Given the description of an element on the screen output the (x, y) to click on. 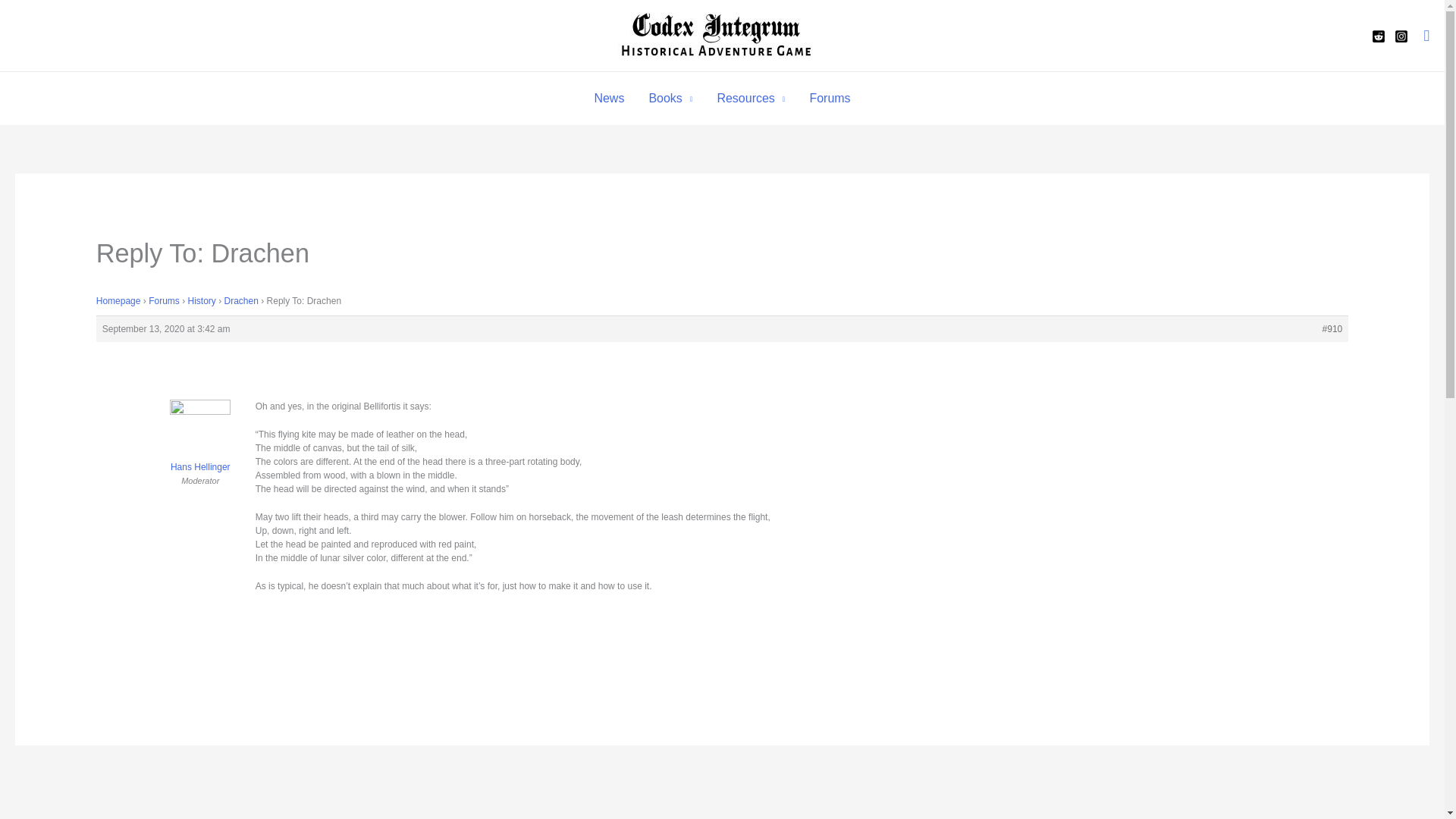
News (608, 98)
Forums (163, 300)
Books (670, 98)
Forums (828, 98)
Homepage (118, 300)
History (201, 300)
Resources (750, 98)
View Hans Hellinger's profile (200, 446)
